Given the description of an element on the screen output the (x, y) to click on. 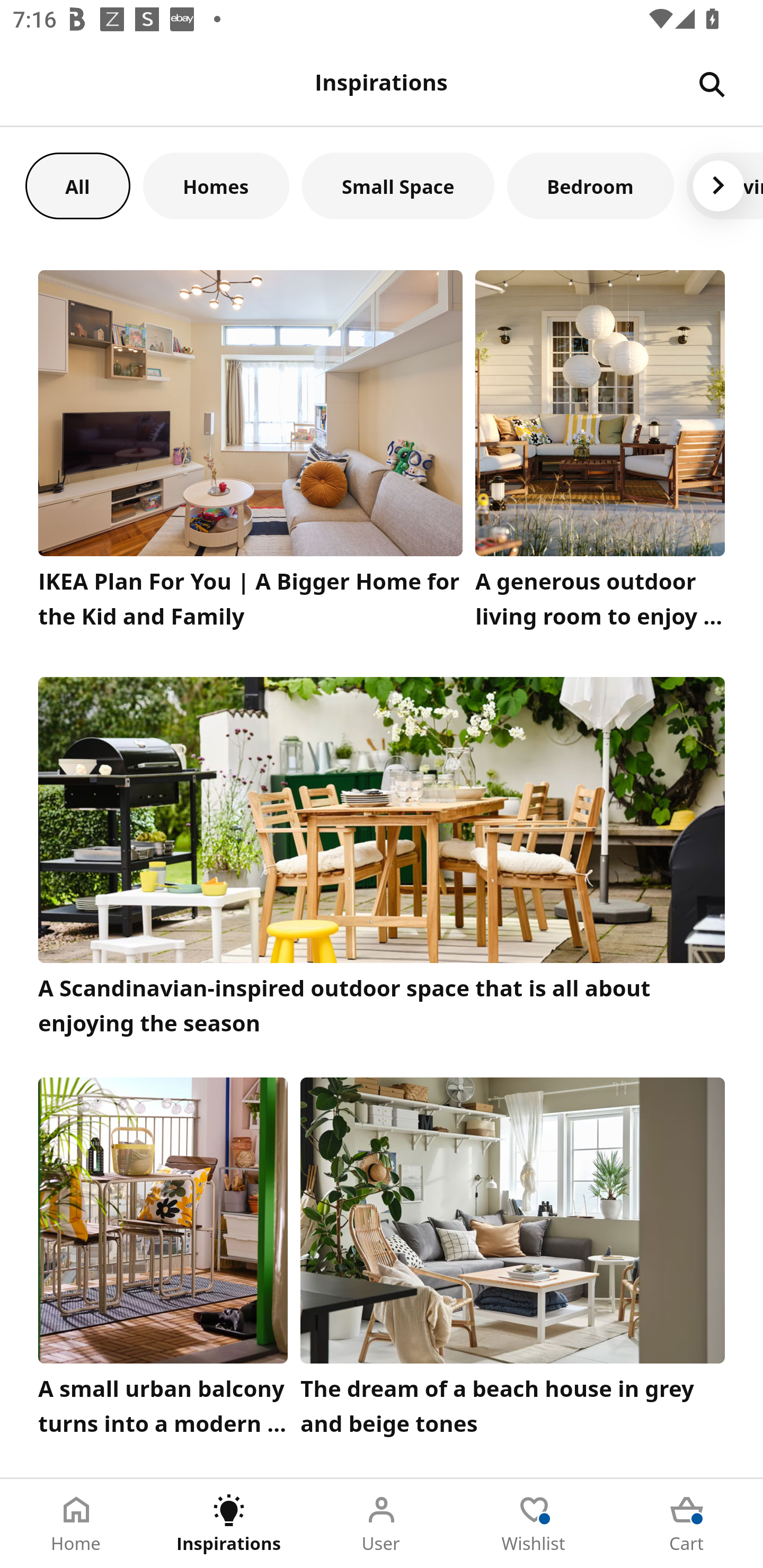
All (77, 185)
Homes (216, 185)
Small Space (398, 185)
Bedroom (590, 185)
The dream of a beach house in grey and beige tones (512, 1261)
Home
Tab 1 of 5 (76, 1522)
Inspirations
Tab 2 of 5 (228, 1522)
User
Tab 3 of 5 (381, 1522)
Wishlist
Tab 4 of 5 (533, 1522)
Cart
Tab 5 of 5 (686, 1522)
